Given the description of an element on the screen output the (x, y) to click on. 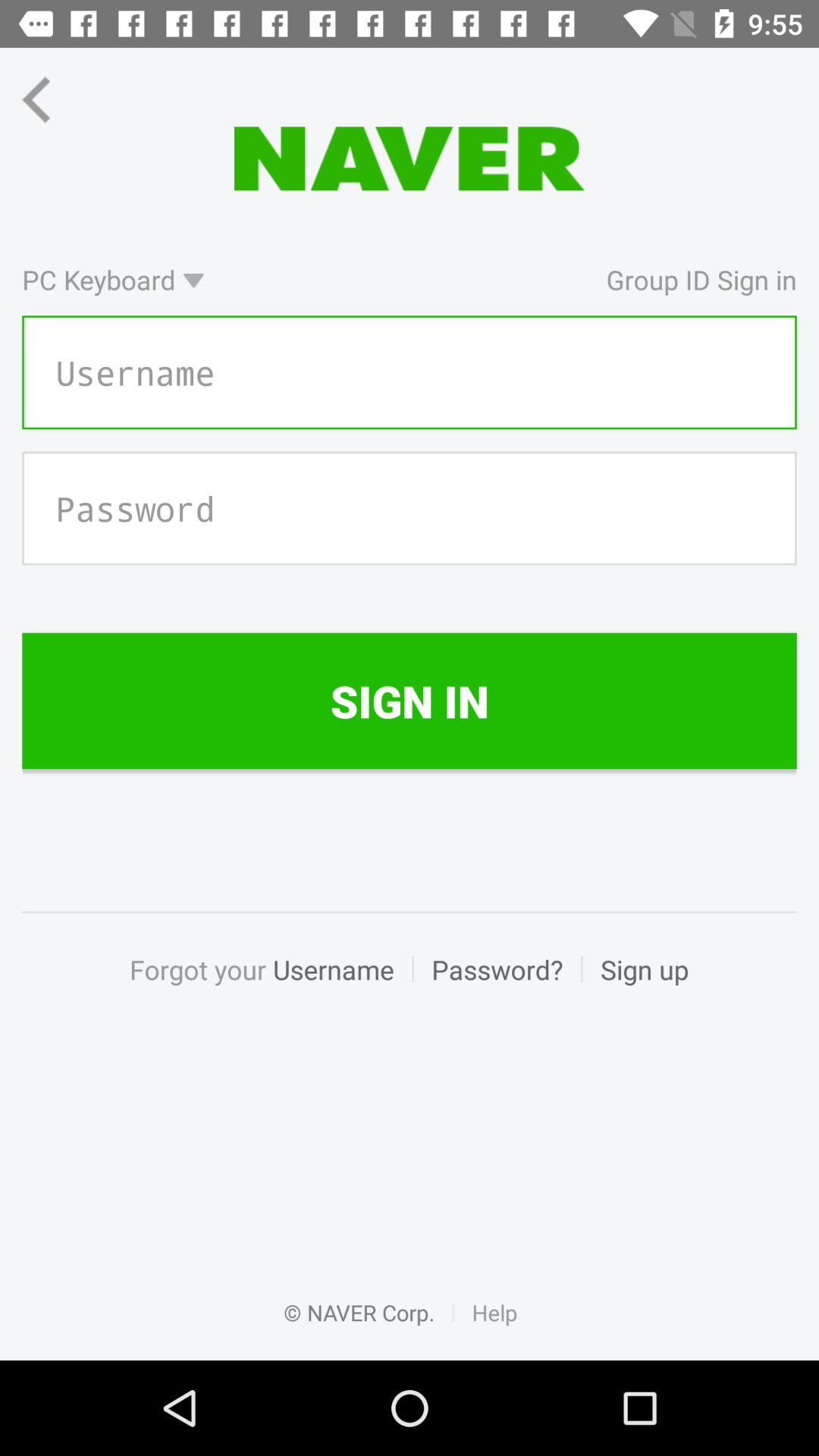
jump to sign up (635, 985)
